Given the description of an element on the screen output the (x, y) to click on. 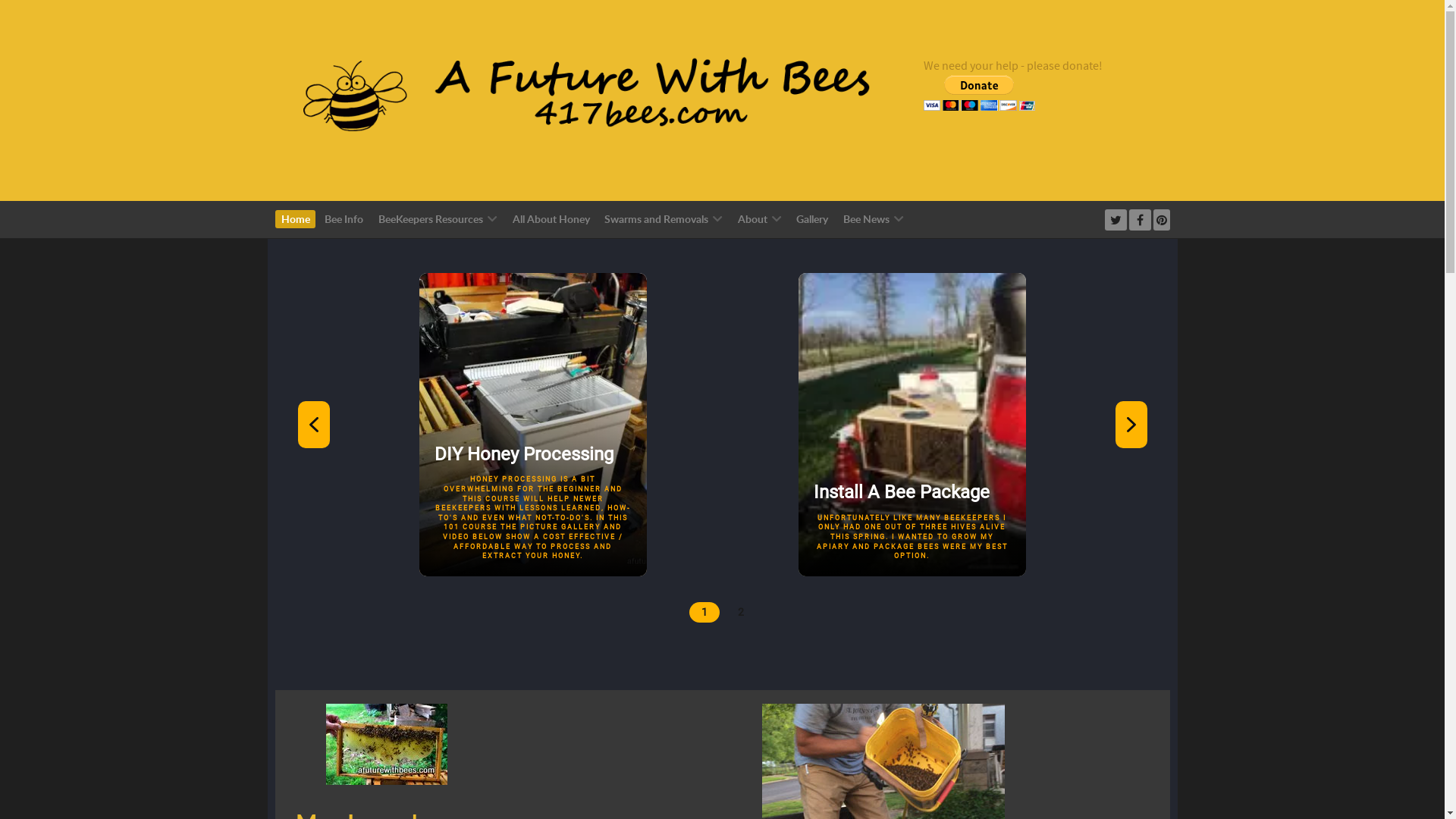
Home Element type: text (295, 219)
Bee Info Element type: text (344, 219)
All About Honey Element type: text (550, 219)
a future with bees Element type: hover (573, 99)
Bee News Element type: text (873, 219)
Swarms and Removals Element type: text (663, 219)
DIY Honey Processing Element type: hover (532, 424)
Gallery Element type: text (812, 219)
BeeKeepers Resources Element type: text (437, 219)
Installing a bee package Element type: hover (911, 424)
About Element type: text (759, 219)
